Given the description of an element on the screen output the (x, y) to click on. 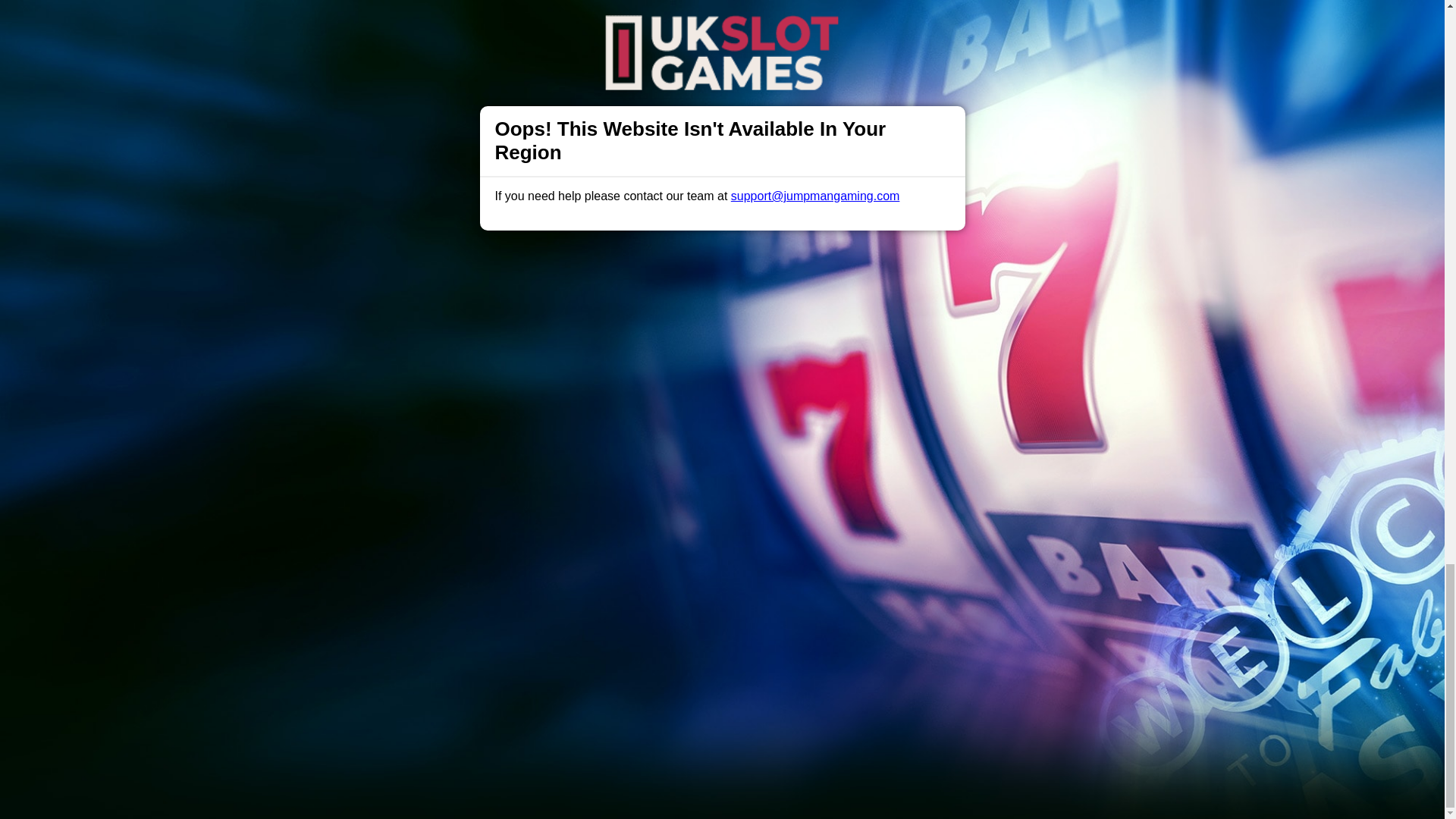
Frozen Queen online slot (1000, 266)
Blog (738, 491)
Affiliates (791, 491)
Back To All Games (721, 393)
Responsible Gaming (407, 491)
Help (489, 491)
Privacy Policy (671, 491)
Back To All Games (722, 393)
